Given the description of an element on the screen output the (x, y) to click on. 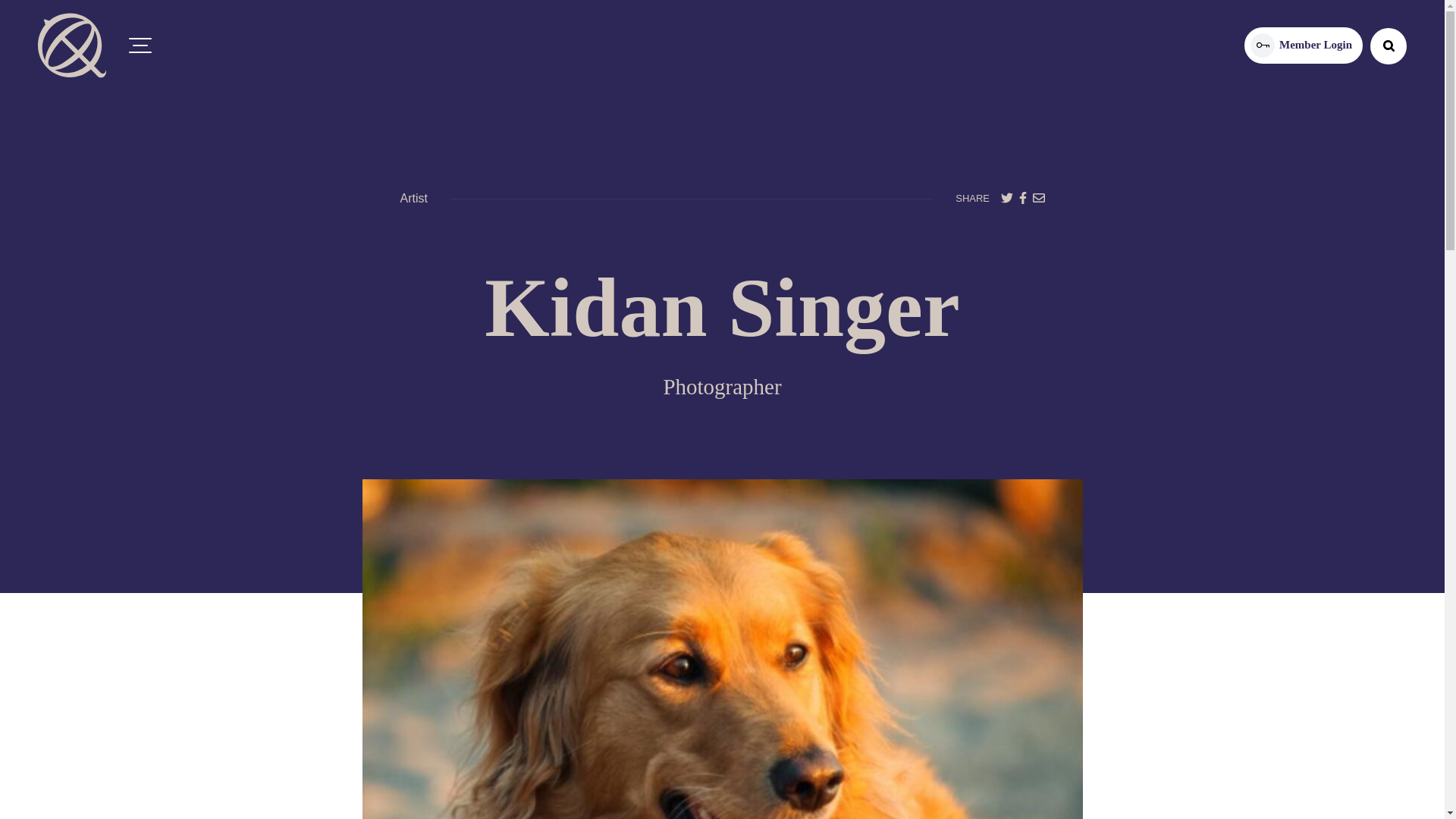
Member Login (1303, 45)
menu (140, 45)
search (1388, 45)
more (1303, 45)
Quinte Arts Council logo (71, 45)
